Given the description of an element on the screen output the (x, y) to click on. 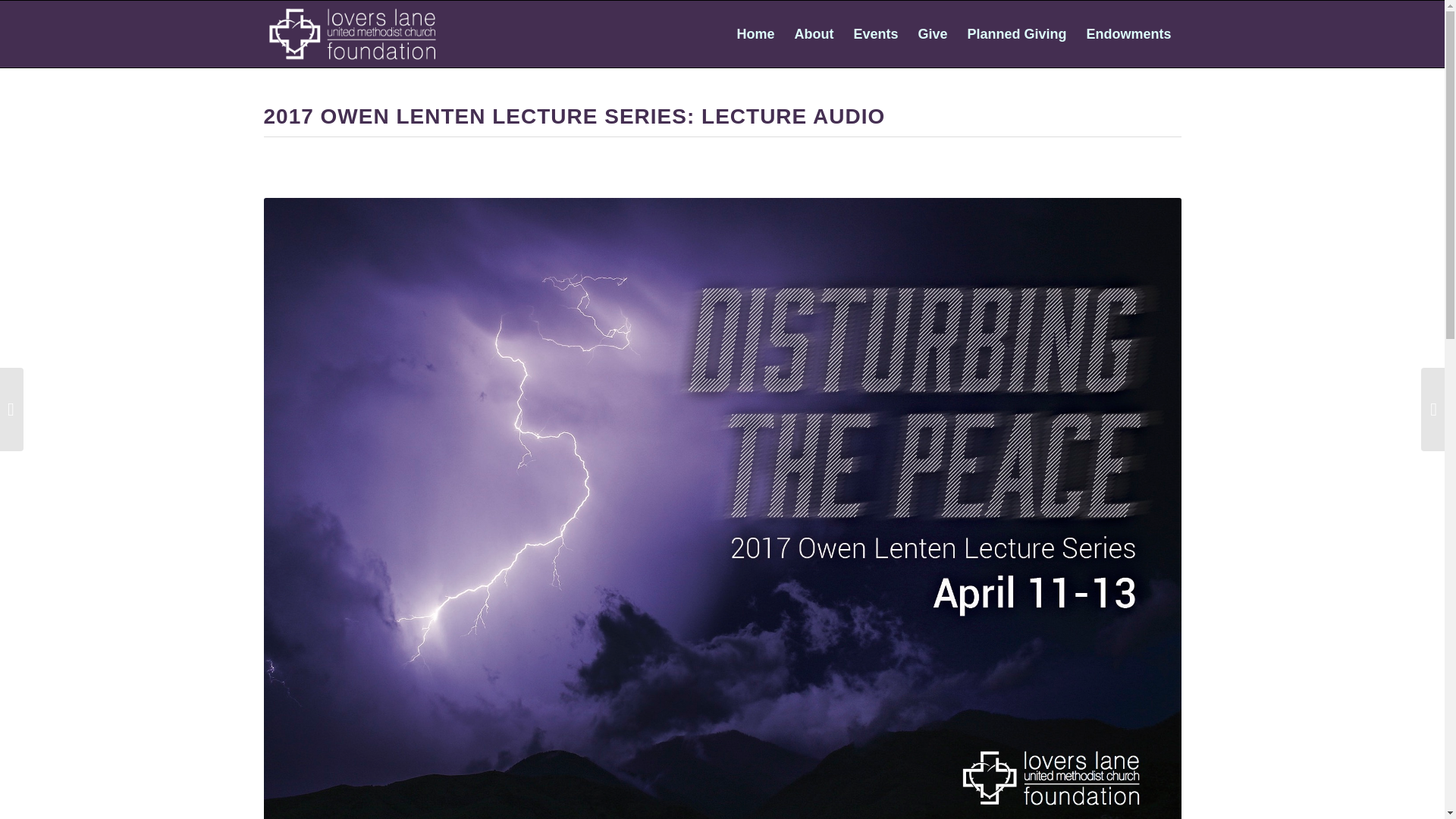
Events (875, 33)
Planned Giving (1015, 33)
Endowments (1127, 33)
